Given the description of an element on the screen output the (x, y) to click on. 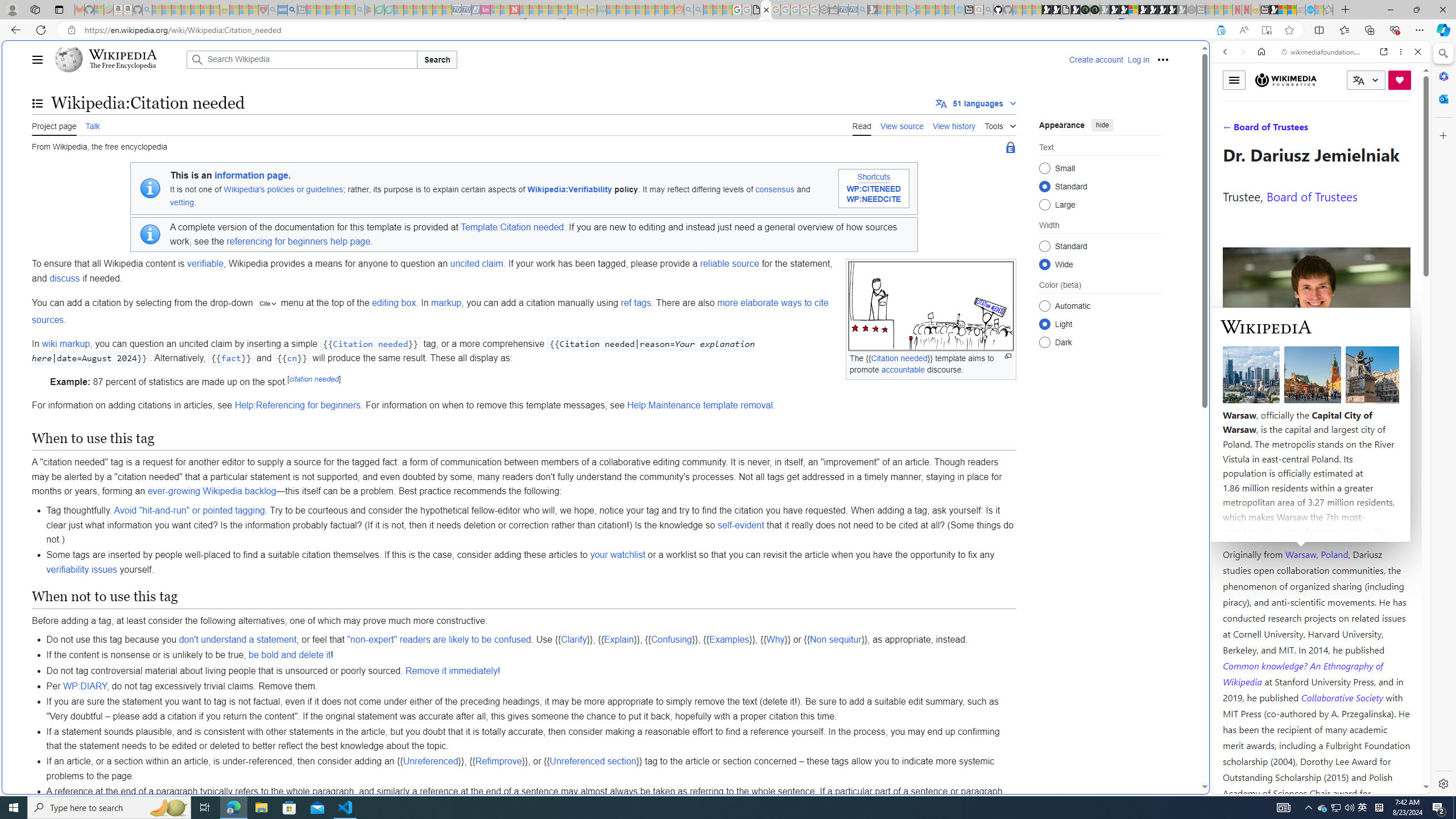
Remove it immediately! (453, 670)
View history (954, 124)
Future Focus Report 2024 (1094, 9)
citation needed (313, 378)
WP:CITENEED (873, 189)
your watchlist (617, 555)
